Given the description of an element on the screen output the (x, y) to click on. 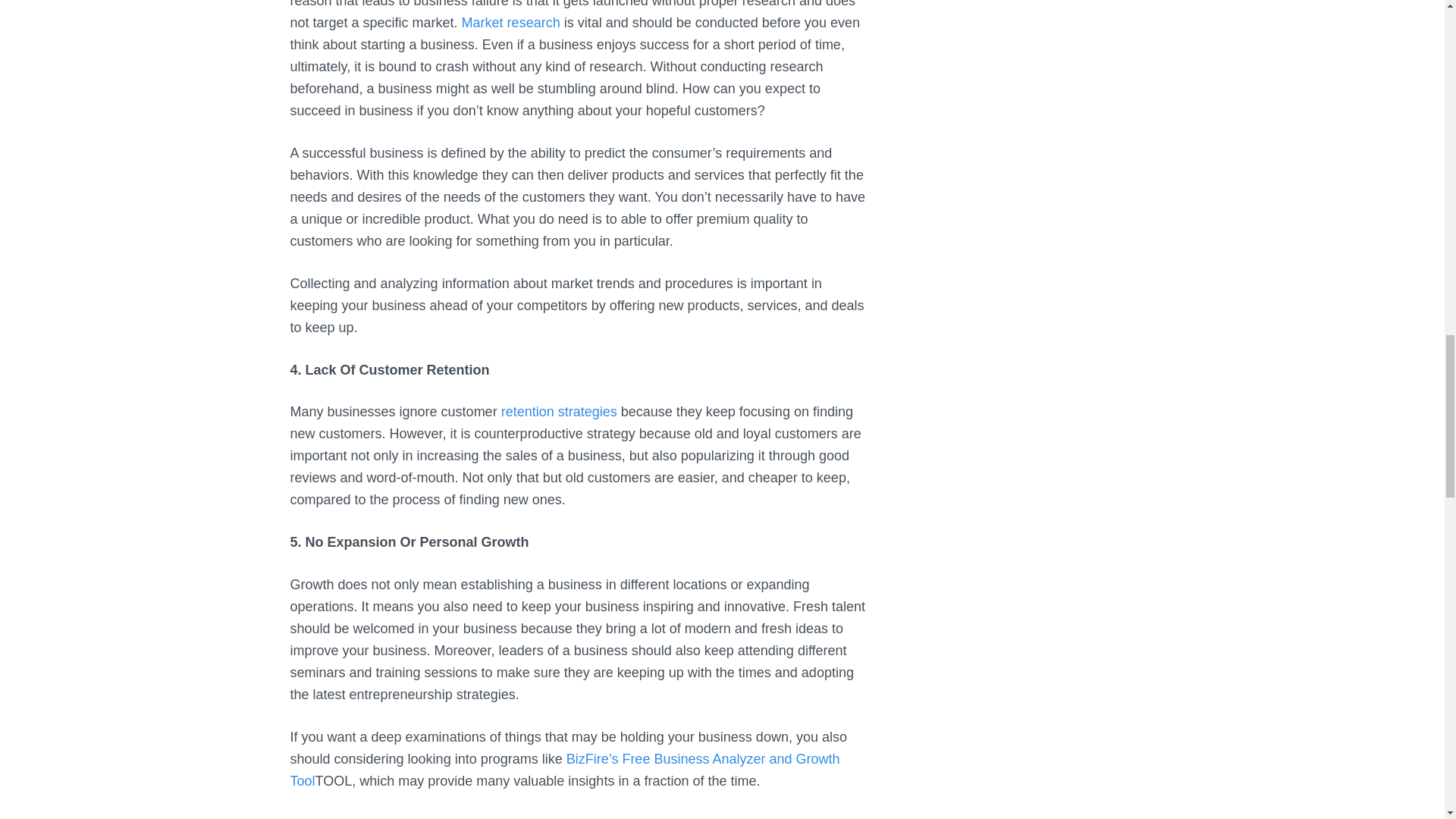
retention strategies (558, 411)
Market research (510, 22)
